Given the description of an element on the screen output the (x, y) to click on. 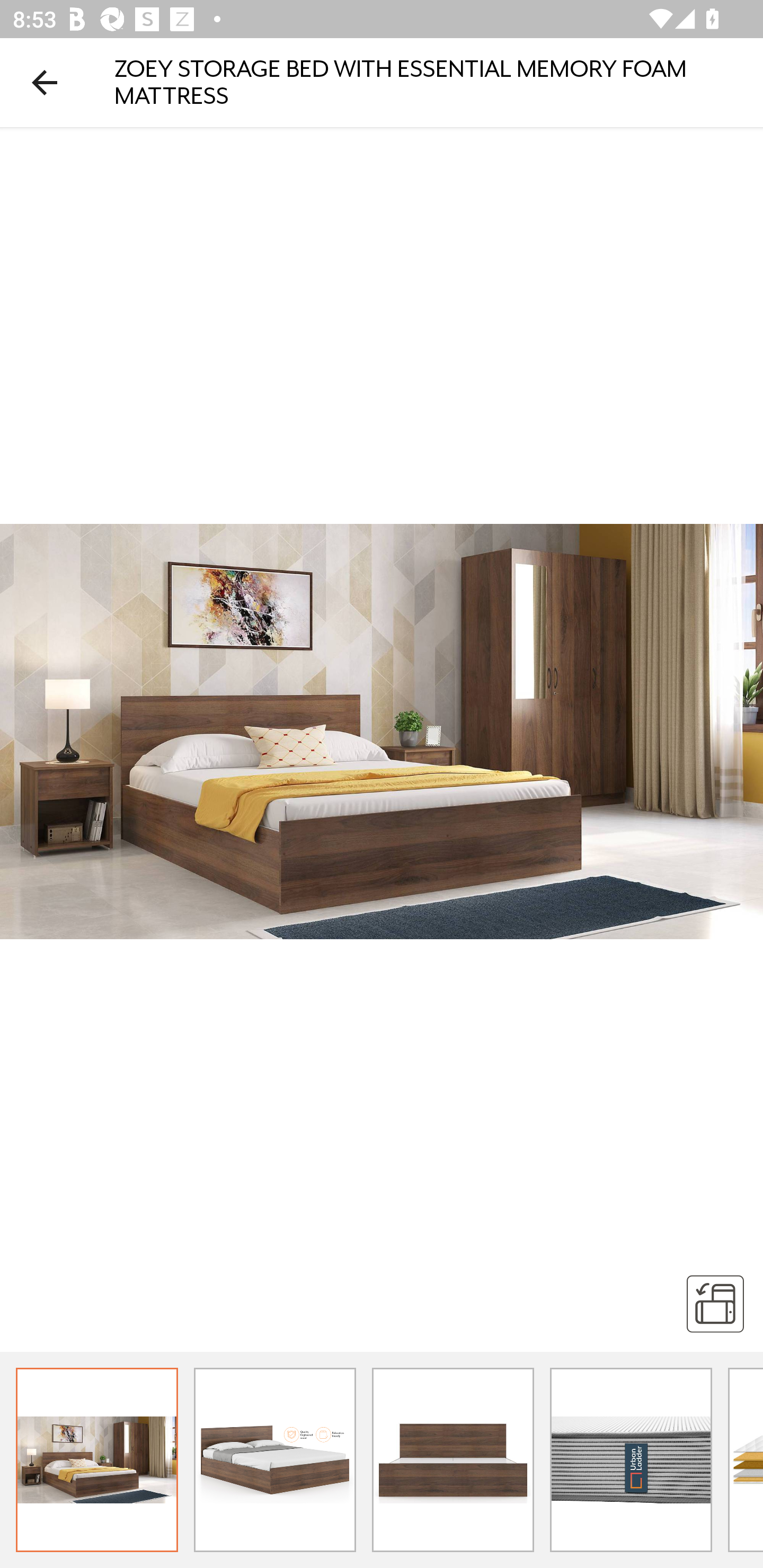
Navigate up (44, 82)
 (715, 1302)
